Given the description of an element on the screen output the (x, y) to click on. 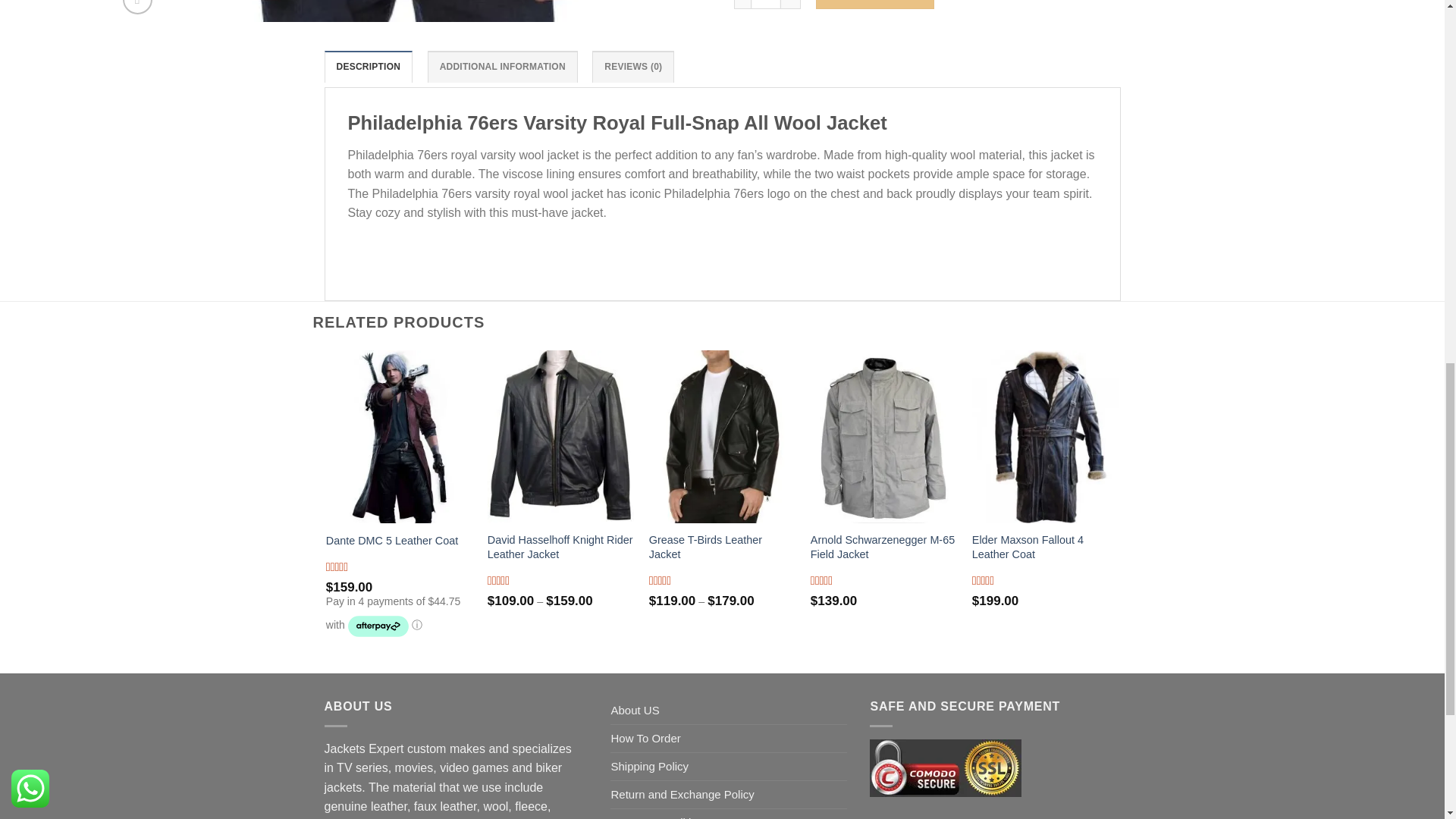
Qty (765, 4)
1 (765, 4)
Zoom (137, 7)
philadelphia-76ers-royal-varsity-wool-jacket (402, 11)
- (742, 4)
